Given the description of an element on the screen output the (x, y) to click on. 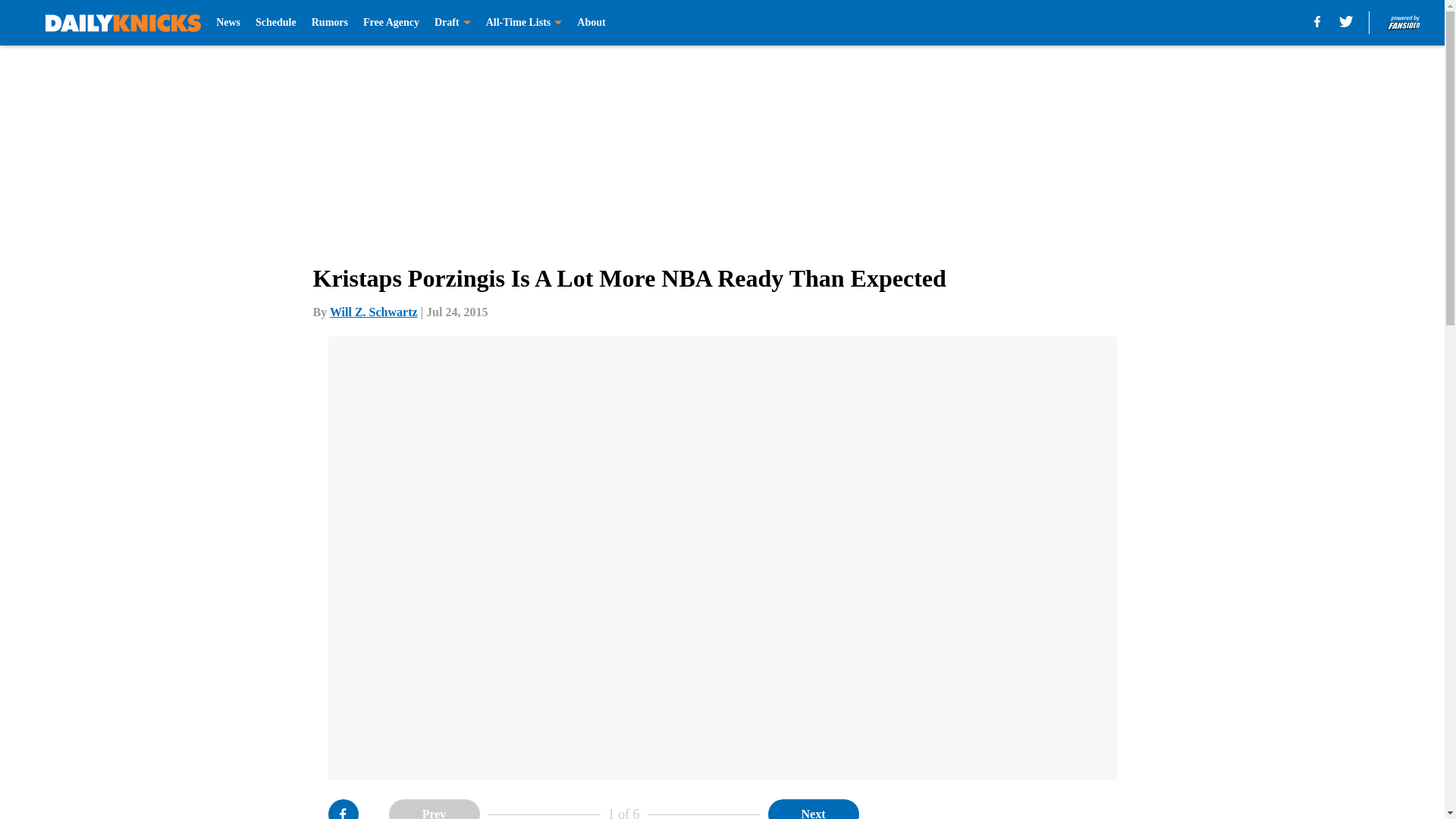
Draft (451, 22)
Schedule (276, 22)
News (227, 22)
All-Time Lists (524, 22)
About (590, 22)
Free Agency (390, 22)
Rumors (329, 22)
Next (813, 809)
Will Z. Schwartz (373, 311)
Prev (433, 809)
